Given the description of an element on the screen output the (x, y) to click on. 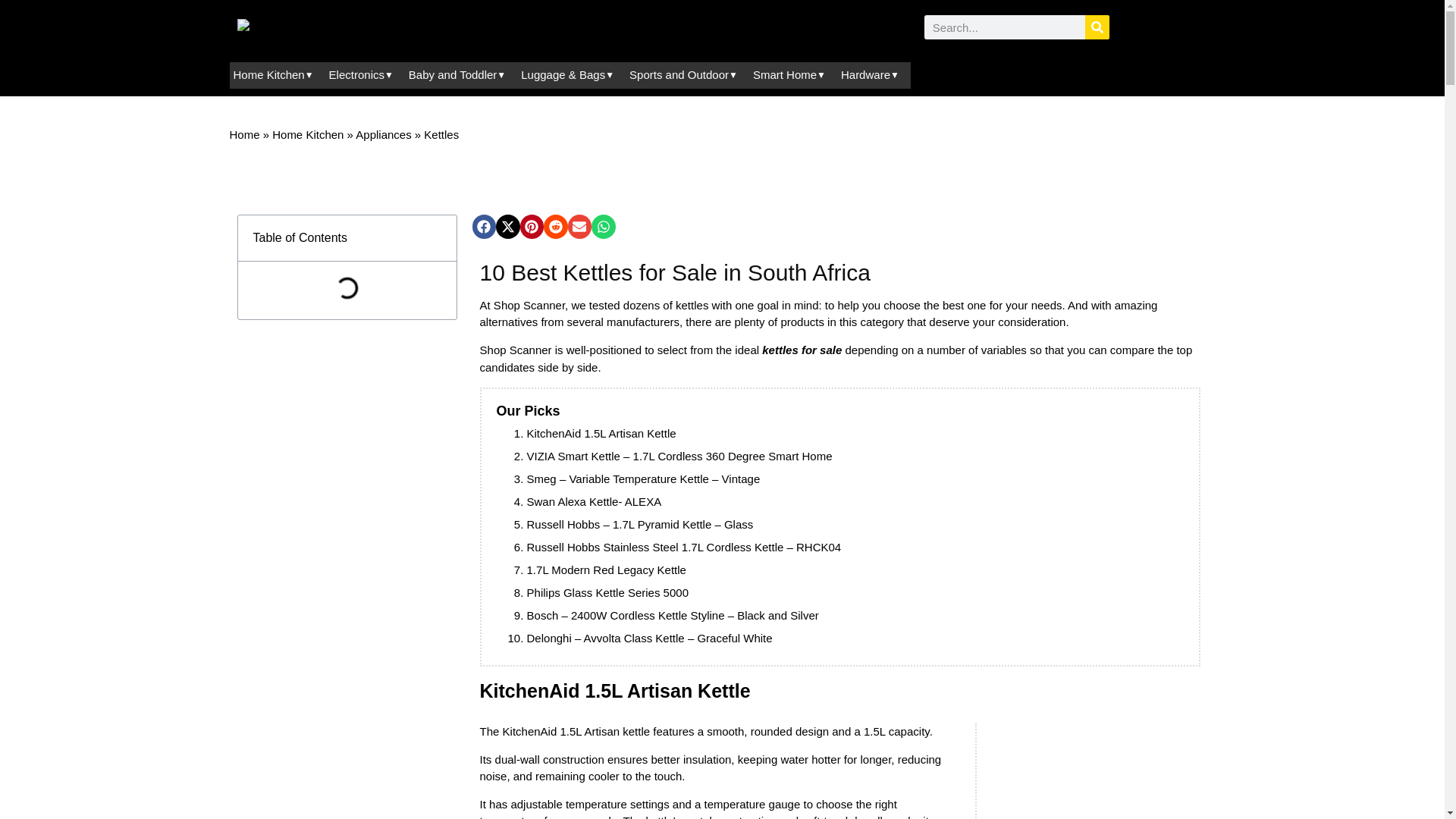
Smart Home (799, 455)
Russell Hobbs (563, 546)
Russell Hobbs (563, 523)
